Given the description of an element on the screen output the (x, y) to click on. 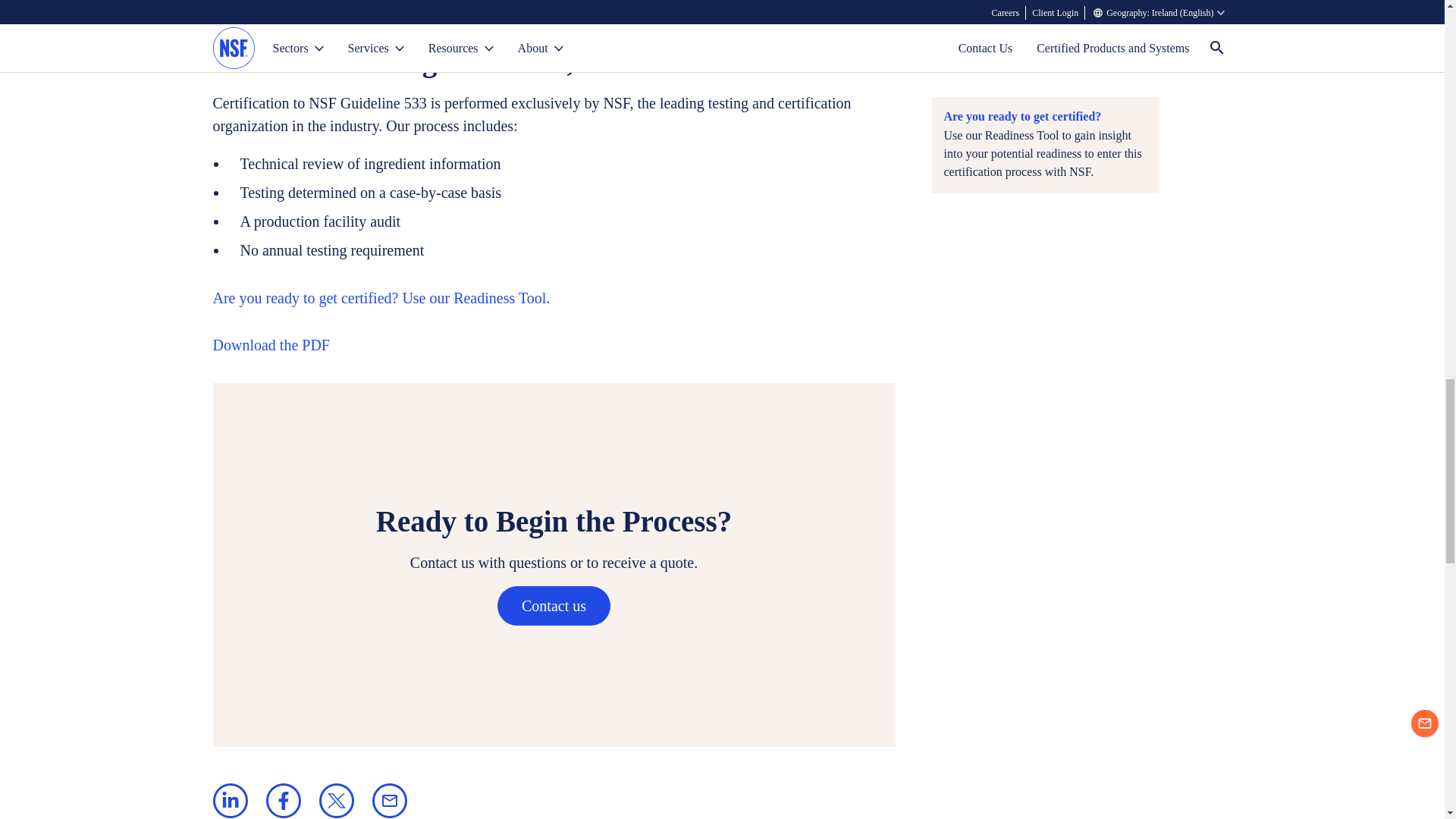
Share on Twitter (335, 800)
Share by Email (388, 800)
Download the PDF (270, 345)
Share on Facebook (281, 800)
Are you ready to get certified? Use our Readiness Tool. (381, 298)
Share on LinkedIn (229, 800)
Contact us (553, 605)
